Given the description of an element on the screen output the (x, y) to click on. 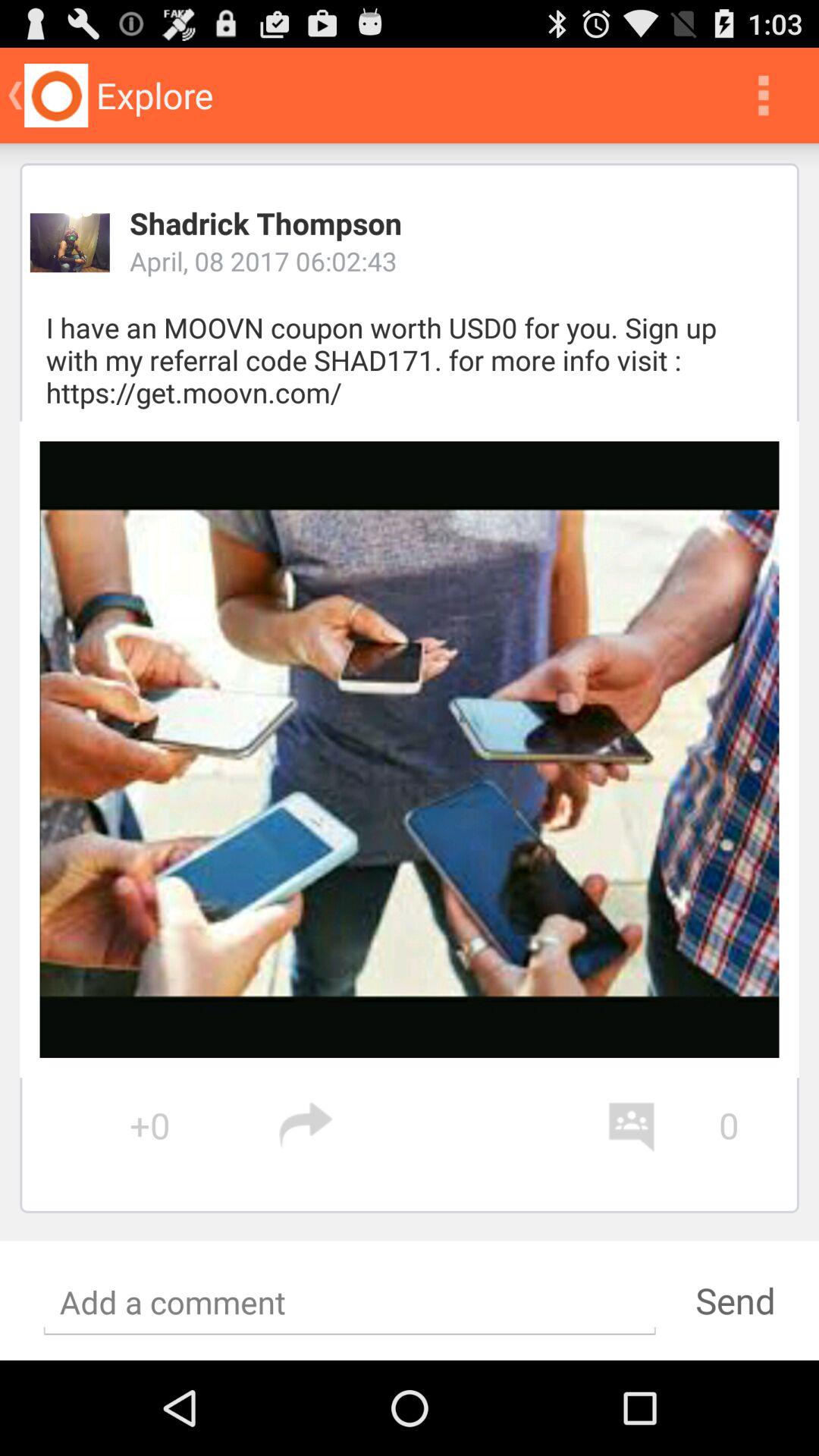
launch icon at the center (409, 749)
